Given the description of an element on the screen output the (x, y) to click on. 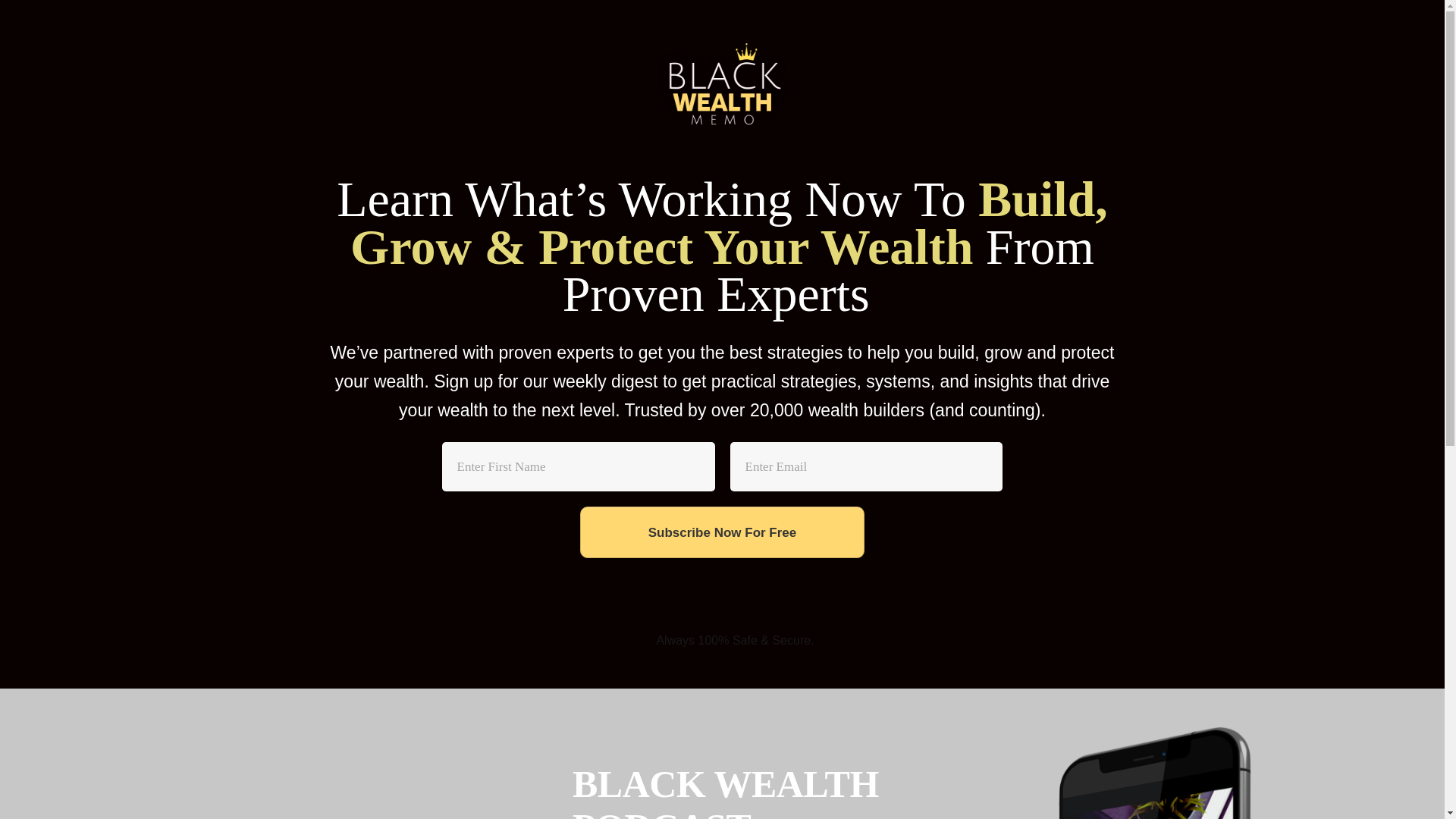
BlackWealthMemo (722, 87)
Subscribe Now For Free (721, 531)
Black Wealth podcast3d-done (1158, 772)
